Given the description of an element on the screen output the (x, y) to click on. 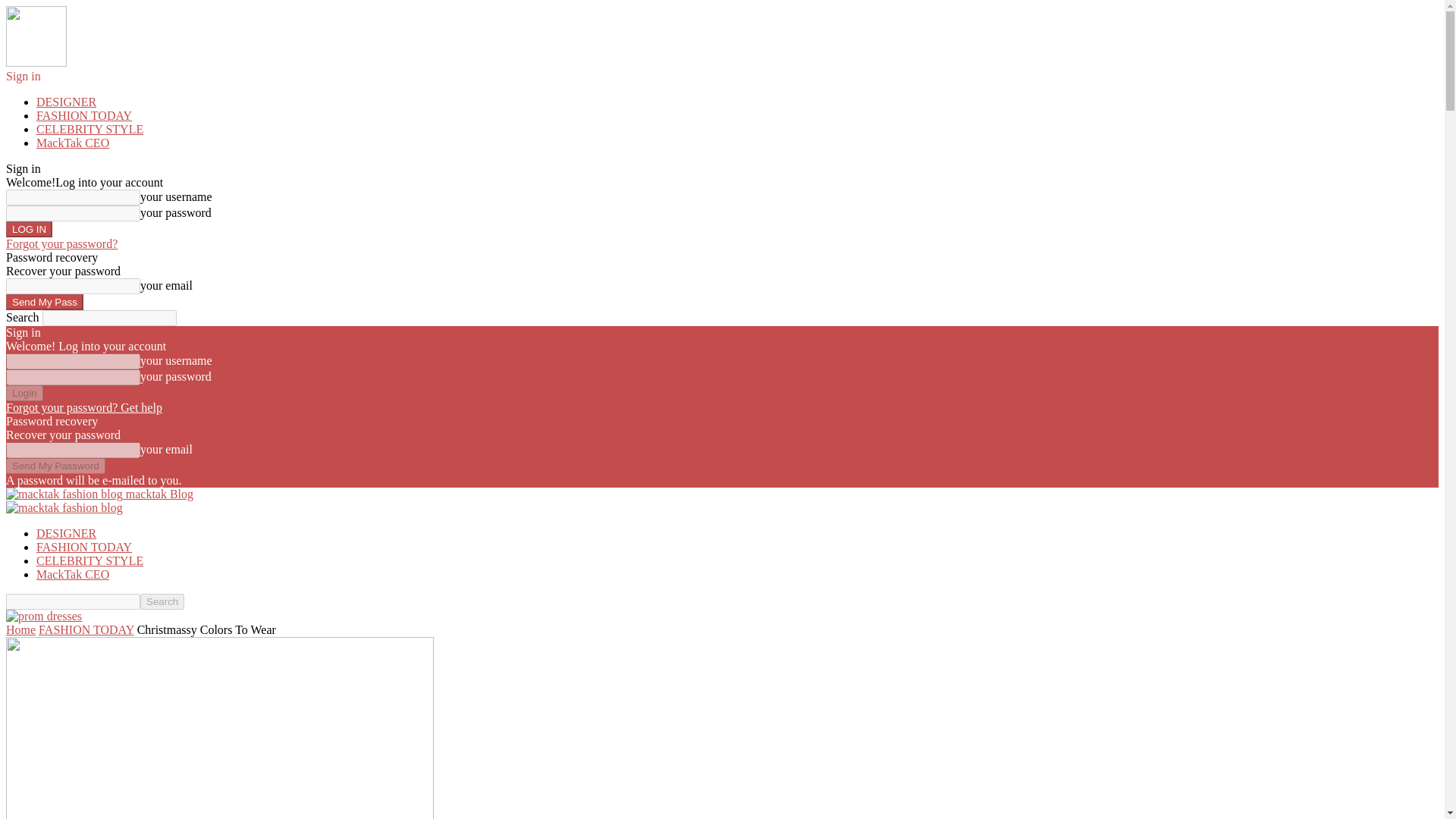
CELEBRITY STYLE (89, 560)
Home (19, 629)
Sign in (22, 75)
Send My Pass (43, 302)
Search (161, 601)
Forgot your password? (61, 243)
FASHION TODAY (84, 546)
DESIGNER (66, 101)
View all posts in FASHION TODAY (86, 629)
FASHION TODAY (86, 629)
FASHION TODAY (84, 115)
macktak fashion blog (63, 494)
DESIGNER (66, 533)
Search (161, 601)
LOG IN (28, 229)
